Given the description of an element on the screen output the (x, y) to click on. 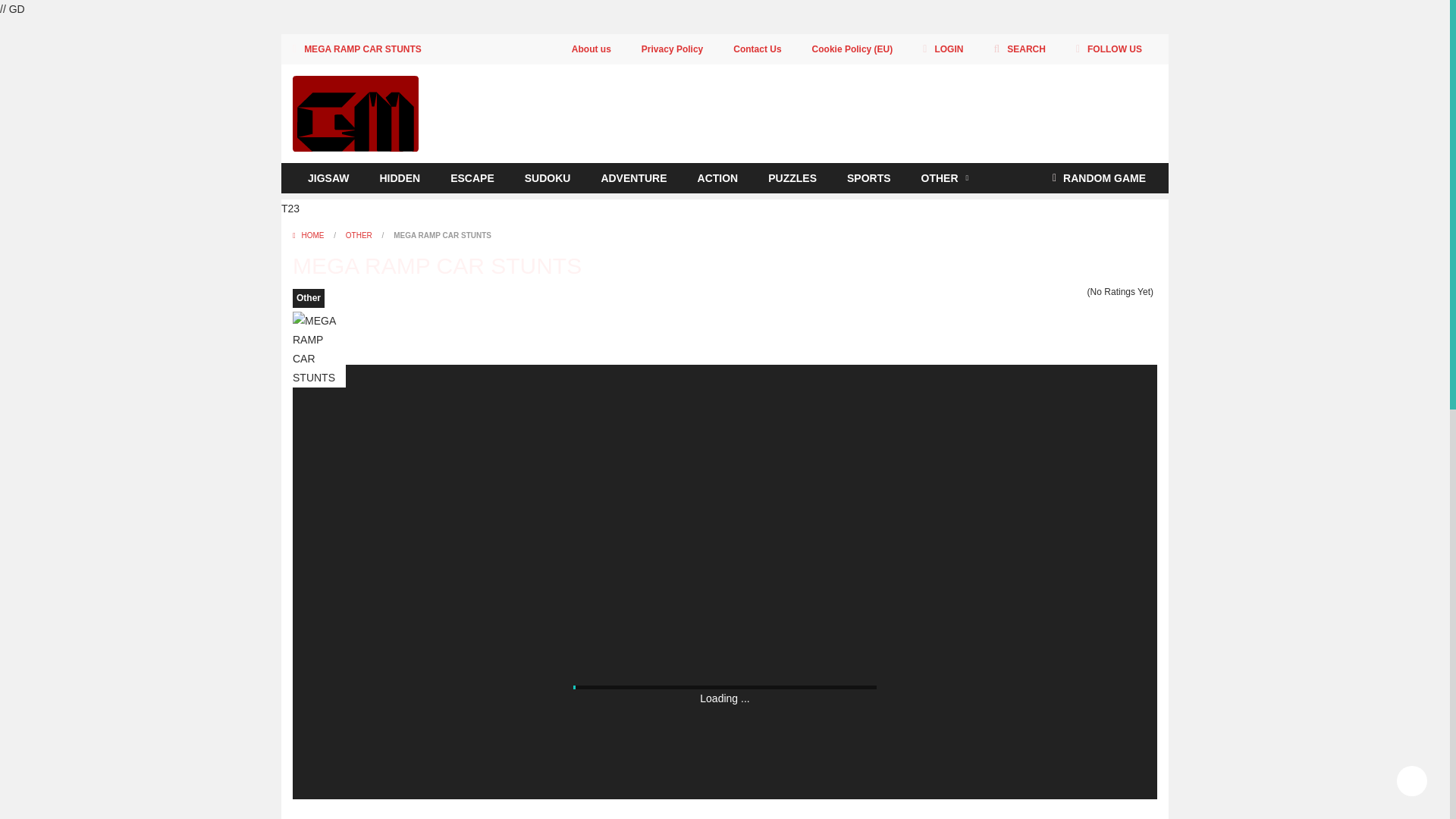
RANDOM GAME (1099, 177)
SUDOKU (547, 177)
OTHER (359, 234)
SEARCH (1019, 49)
4 Stars (1069, 292)
PUZZLES (791, 177)
LOGIN (942, 49)
Games2Mad (355, 113)
5 Stars (1079, 292)
ACTION (718, 177)
3 Stars (1059, 292)
1 Star (1040, 292)
SPORTS (868, 177)
Games2Mad (355, 112)
About us (591, 49)
